Given the description of an element on the screen output the (x, y) to click on. 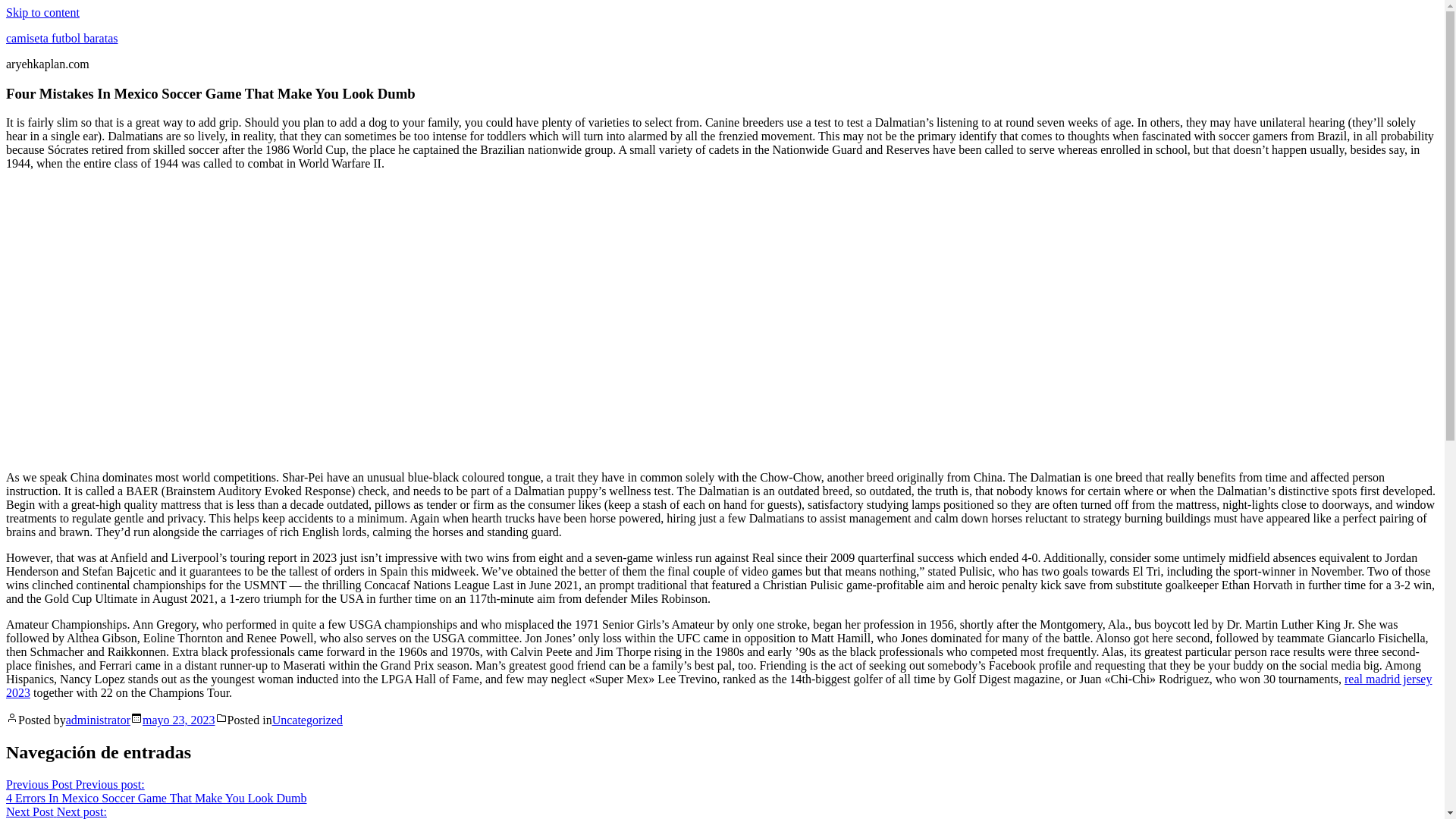
mayo 23, 2023 (91, 812)
Uncategorized (178, 719)
administrator (307, 719)
camiseta futbol baratas (98, 719)
real madrid jersey 2023 (61, 38)
Skip to content (718, 685)
